Given the description of an element on the screen output the (x, y) to click on. 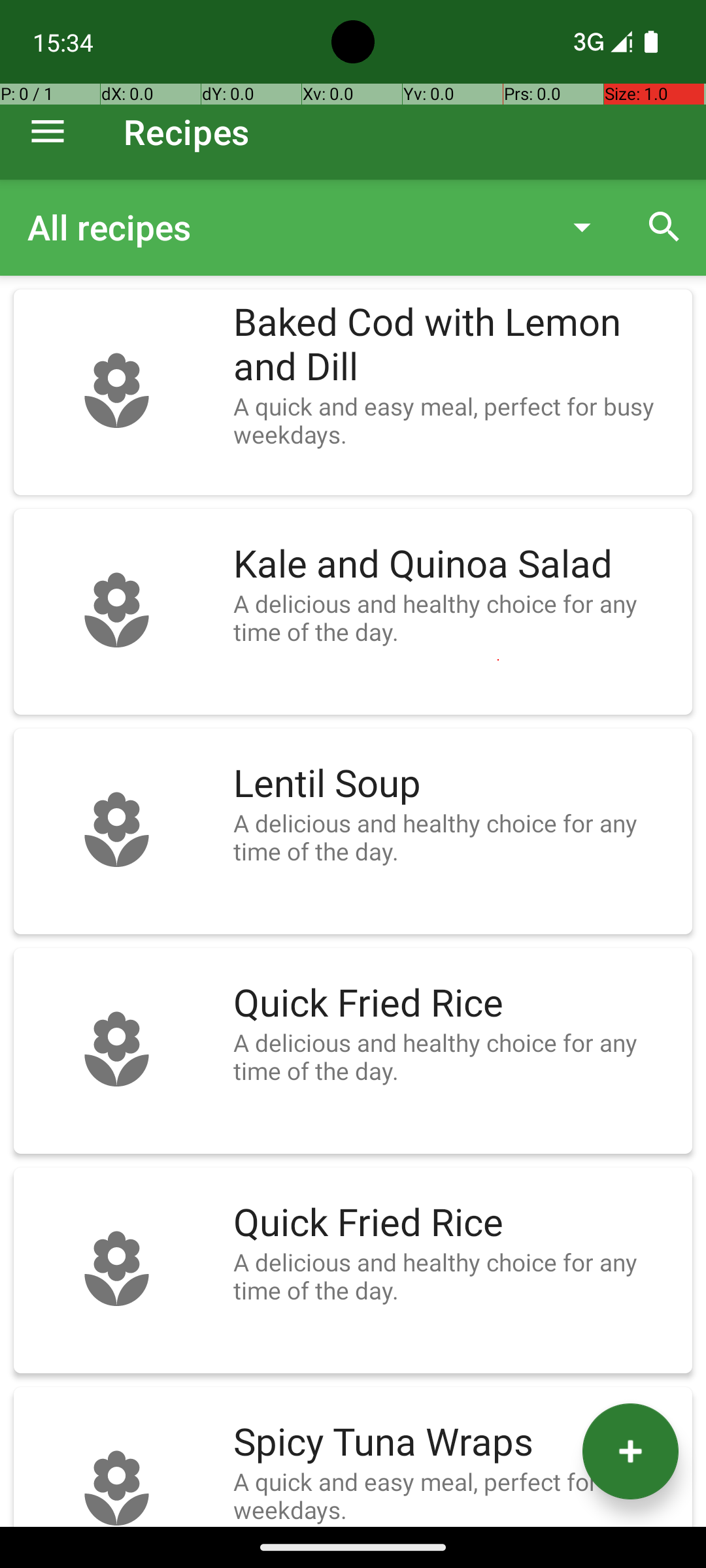
Lentil Soup Element type: android.widget.TextView (455, 783)
Quick Fried Rice Element type: android.widget.TextView (455, 1003)
Spicy Tuna Wraps Element type: android.widget.TextView (455, 1442)
